Given the description of an element on the screen output the (x, y) to click on. 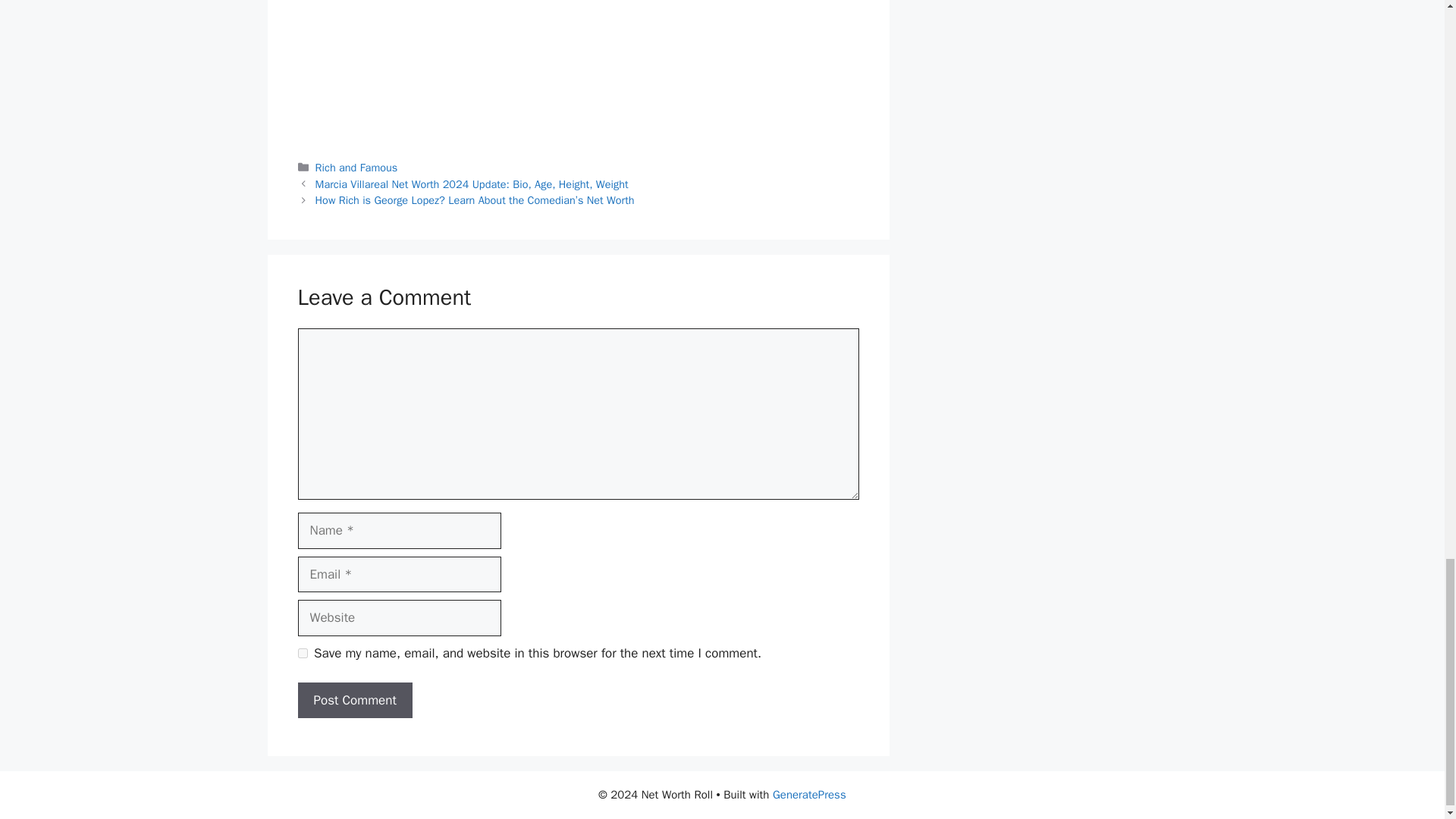
Rich and Famous (356, 167)
Post Comment (354, 700)
yes (302, 653)
Advertisement (578, 69)
Post Comment (354, 700)
GeneratePress (809, 794)
